Given the description of an element on the screen output the (x, y) to click on. 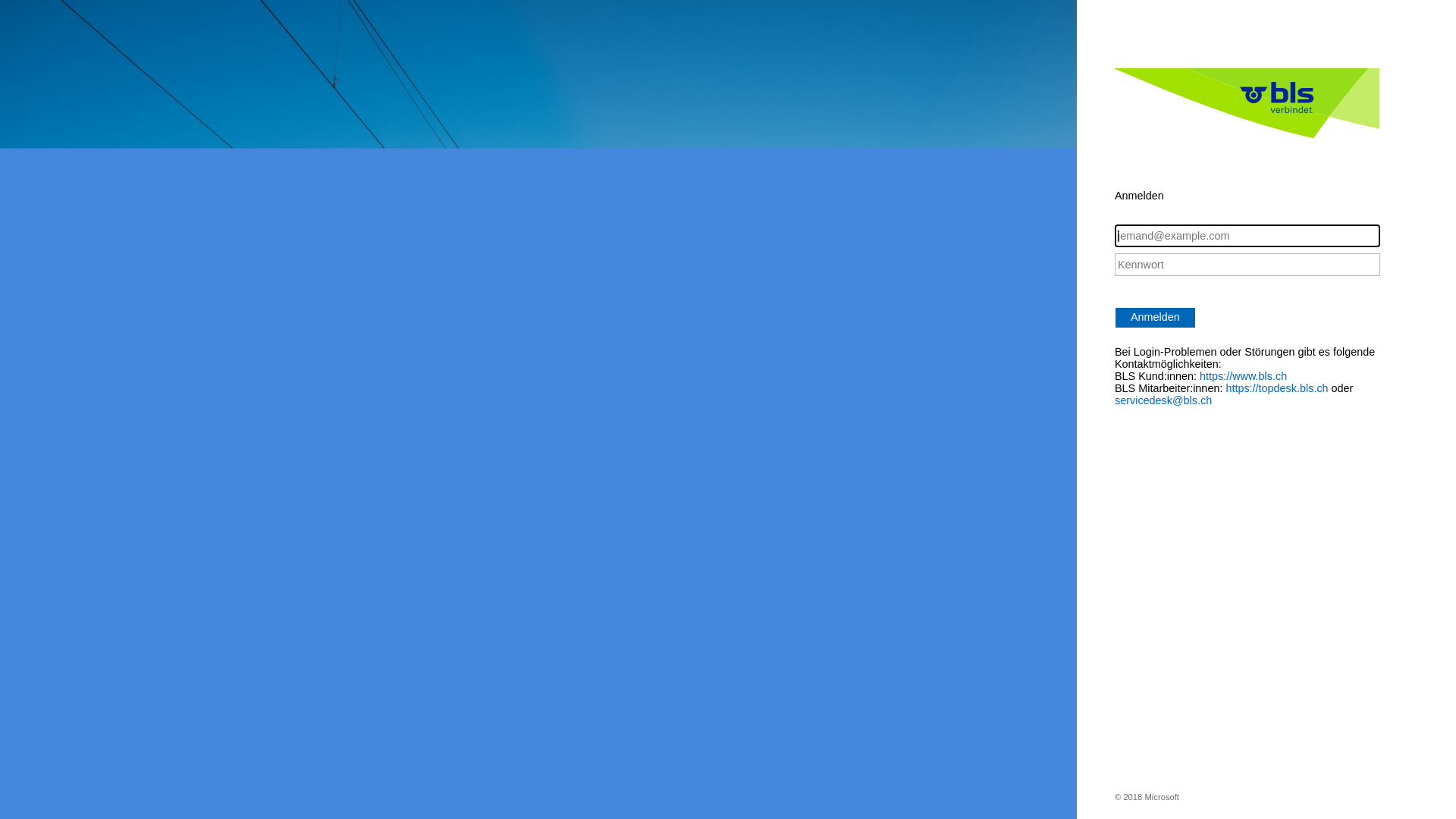
https://topdesk.bls.ch Element type: text (1276, 388)
Anmelden Element type: text (1154, 317)
https://www.bls.ch Element type: text (1242, 376)
servicedesk@bls.ch Element type: text (1162, 400)
